Given the description of an element on the screen output the (x, y) to click on. 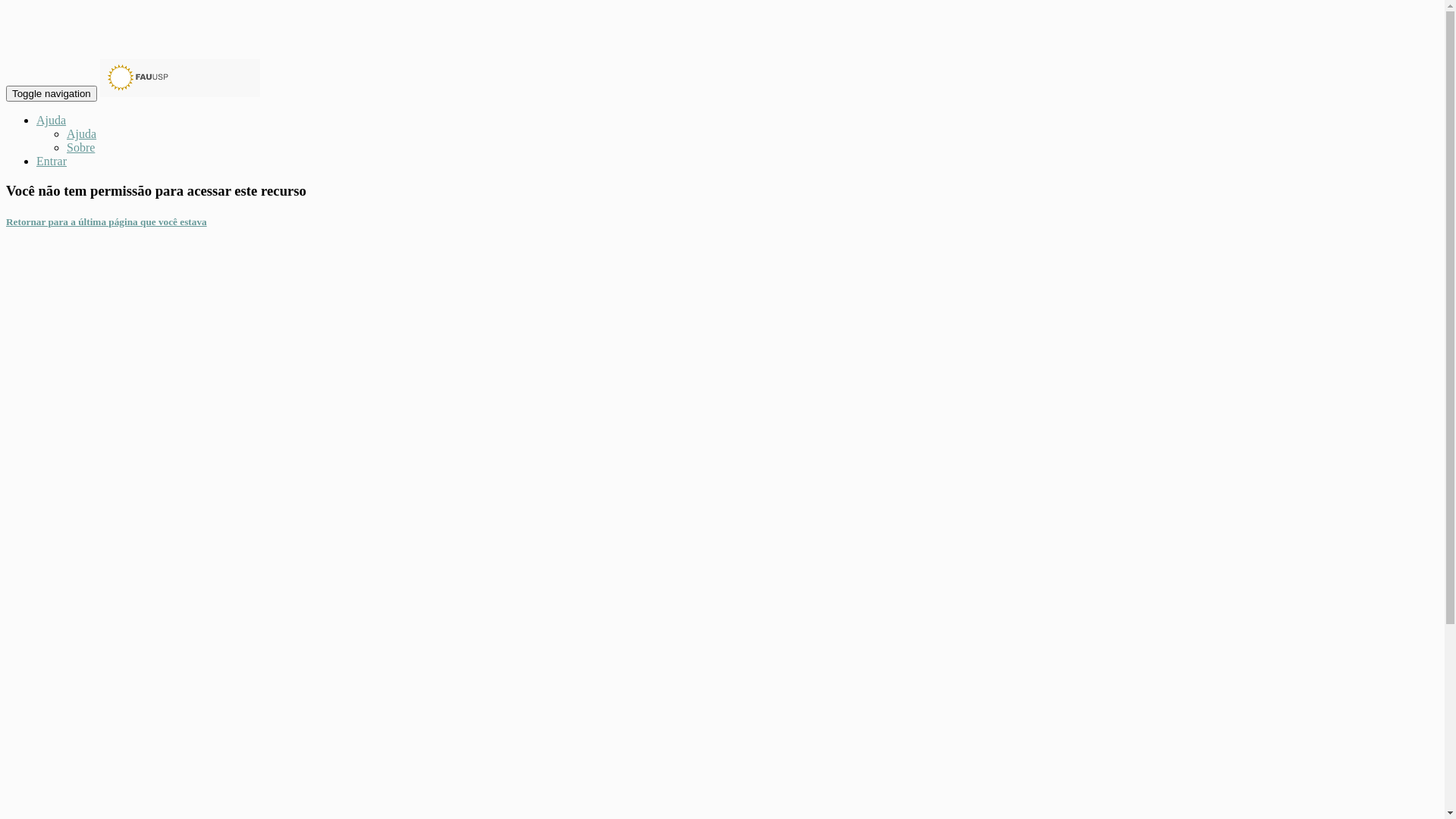
Toggle navigation Element type: text (51, 93)
Ajuda Element type: text (50, 119)
Entrar Element type: text (51, 160)
Ajuda Element type: text (81, 133)
Agendamento FAUUSP - Criar Reservas Element type: hover (180, 78)
Sobre Element type: text (80, 147)
